Given the description of an element on the screen output the (x, y) to click on. 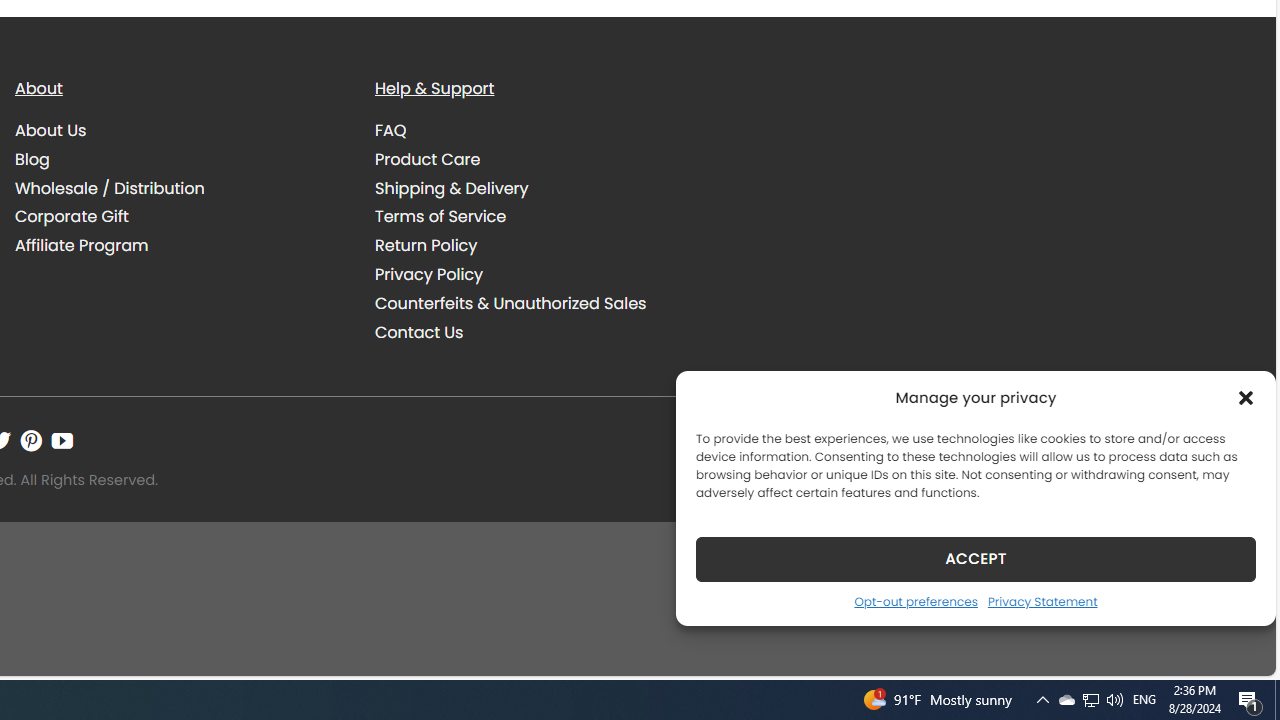
Terms of Service (540, 216)
Opt-out preferences (915, 601)
Blog (180, 159)
